Given the description of an element on the screen output the (x, y) to click on. 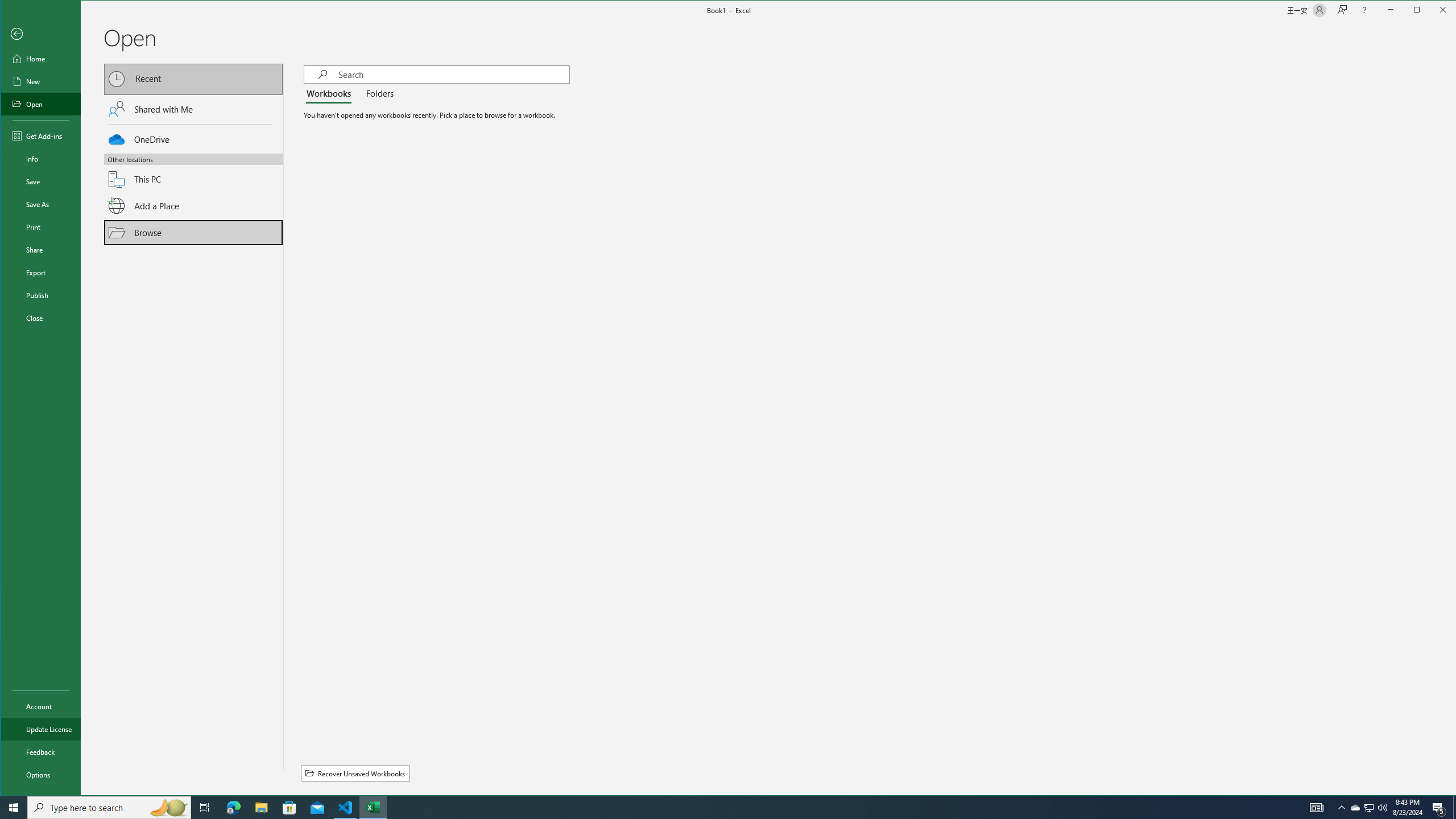
Running applications (717, 807)
File Explorer (261, 807)
Recover Unsaved Workbooks (355, 773)
Print (40, 226)
Visual Studio Code - 1 running window (345, 807)
User Promoted Notification Area (1368, 807)
Feedback (40, 751)
Publish (40, 295)
Shared with Me (193, 109)
Excel - 1 running window (373, 807)
Get Add-ins (40, 135)
Type here to search (108, 807)
